Given the description of an element on the screen output the (x, y) to click on. 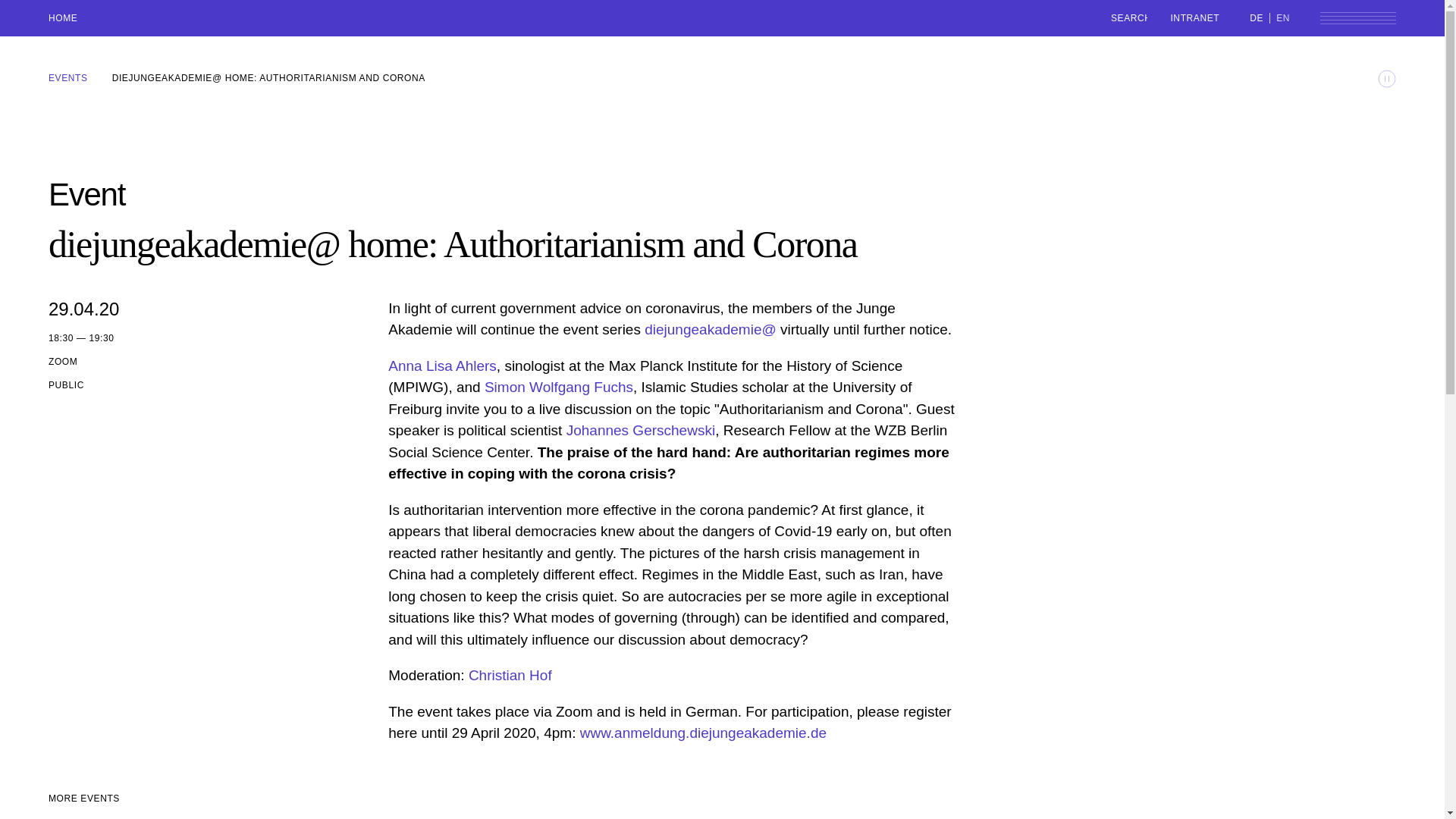
Toggle animations (1386, 78)
Simon Wolfgang Fuchs (558, 386)
Toggle animations (1386, 78)
HOME (62, 17)
INTRANET (1195, 17)
Anna Lisa Ahlers (442, 365)
DE (1259, 17)
EVENTS (67, 77)
Open navigation menu (1358, 18)
